Given the description of an element on the screen output the (x, y) to click on. 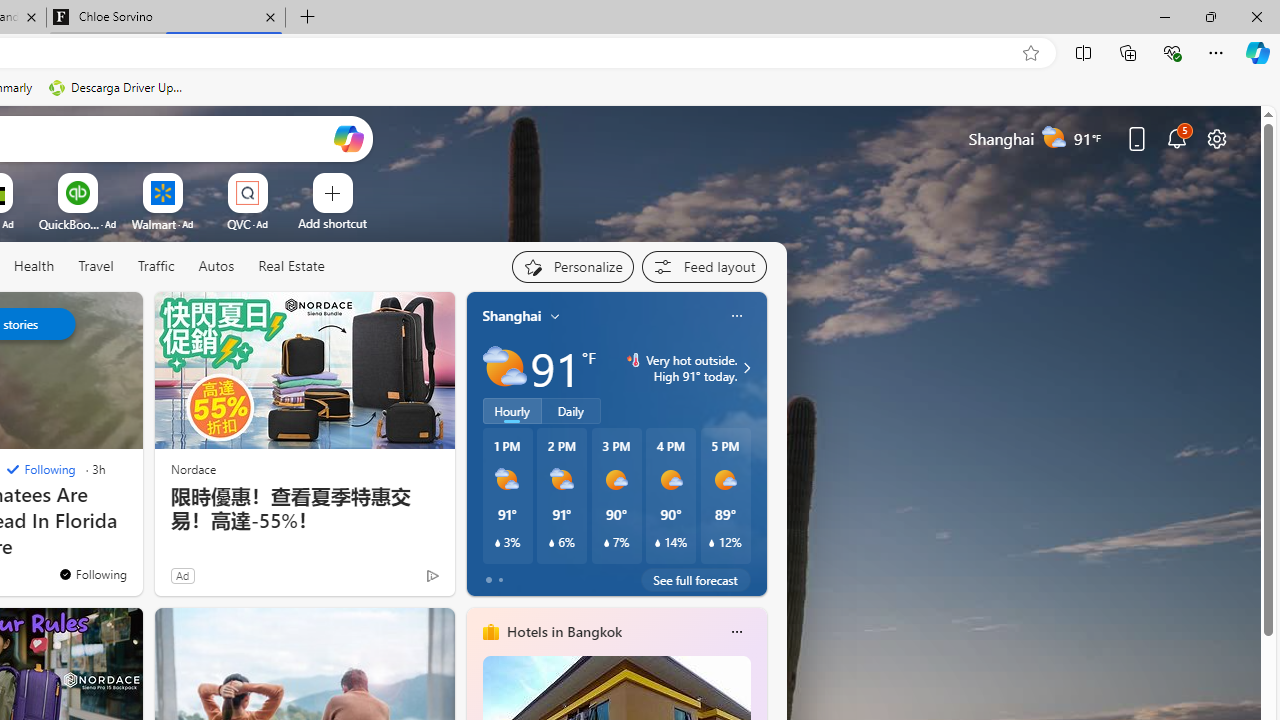
tab-0 (488, 579)
Ad (182, 575)
tab-1 (500, 579)
Feed settings (703, 266)
See full forecast (695, 579)
Class: icon-img (736, 632)
Chloe Sorvino (166, 17)
Descarga Driver Updater (118, 88)
